Given the description of an element on the screen output the (x, y) to click on. 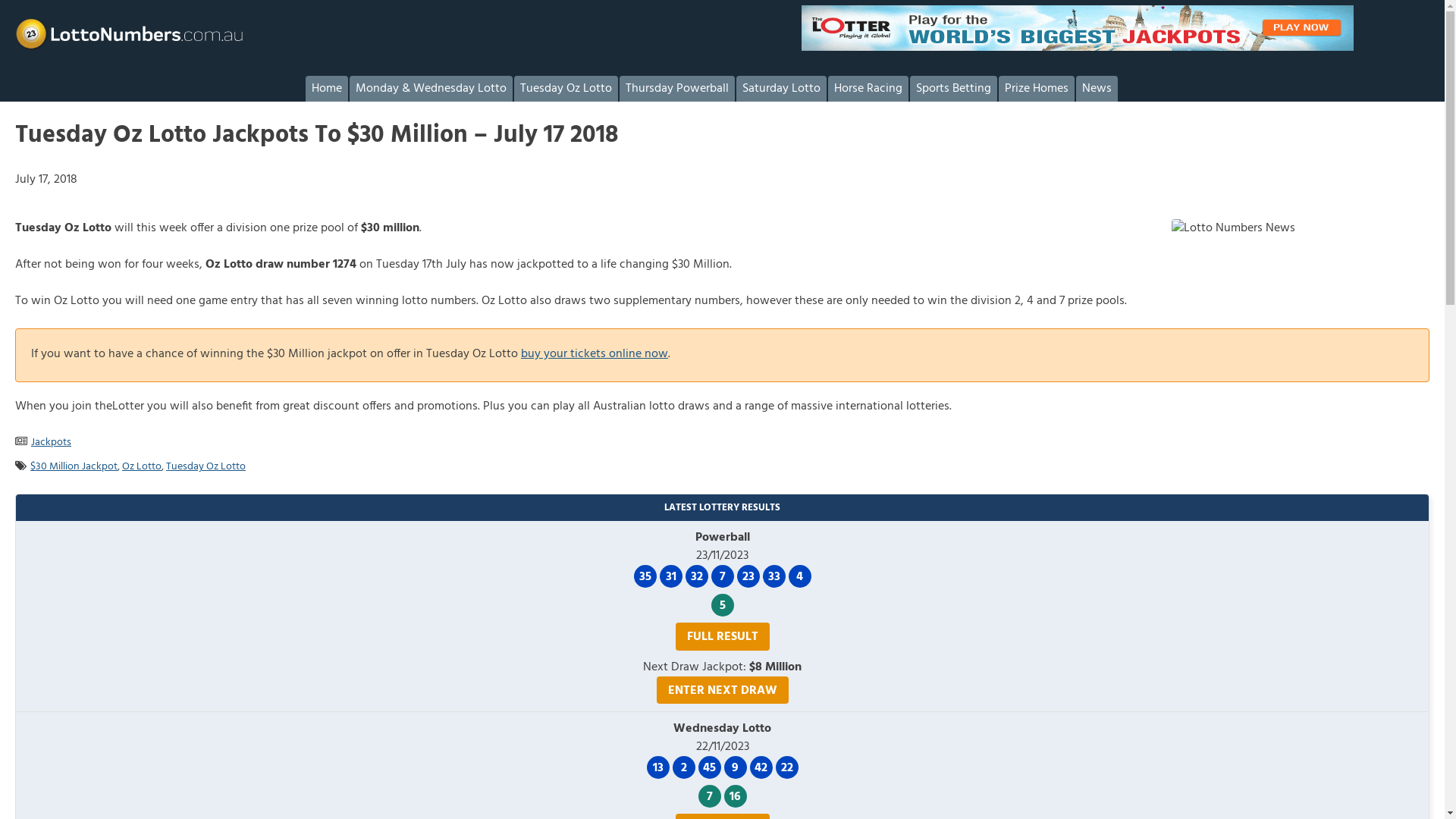
Tuesday Oz Lotto Element type: text (205, 466)
ENTER NEXT DRAW Element type: text (722, 689)
Thursday Powerball Element type: text (676, 88)
Horse Racing Element type: text (868, 88)
Sports Betting Element type: text (953, 88)
Prize Homes Element type: text (1035, 88)
Monday & Wednesday Lotto Element type: text (429, 88)
FULL RESULT Element type: text (721, 635)
Saturday Lotto Element type: text (780, 88)
Jackpots Element type: text (51, 442)
News Element type: text (1096, 88)
Tuesday Oz Lotto Element type: text (566, 88)
buy your tickets online now Element type: text (594, 354)
Home Element type: text (325, 88)
Oz Lotto Element type: text (141, 466)
$30 Million Jackpot Element type: text (73, 466)
